Given the description of an element on the screen output the (x, y) to click on. 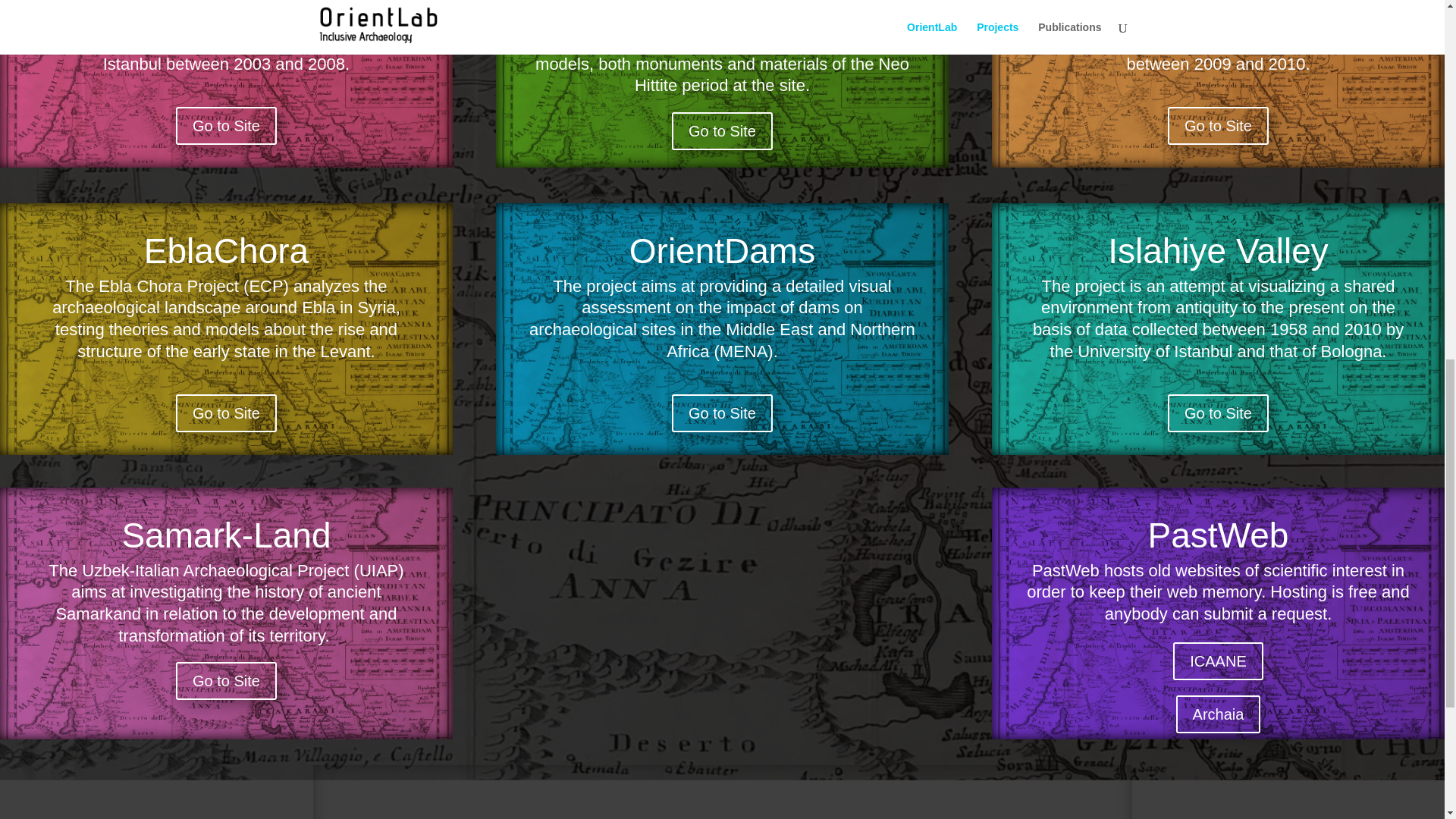
Go to Site (226, 125)
Go to Site (722, 412)
Archaia (1218, 714)
Go to Site (1217, 412)
Go to Site (226, 412)
Go to Site (722, 130)
ICAANE (1217, 661)
Go to Site (226, 680)
Go to Site (1217, 125)
